Given the description of an element on the screen output the (x, y) to click on. 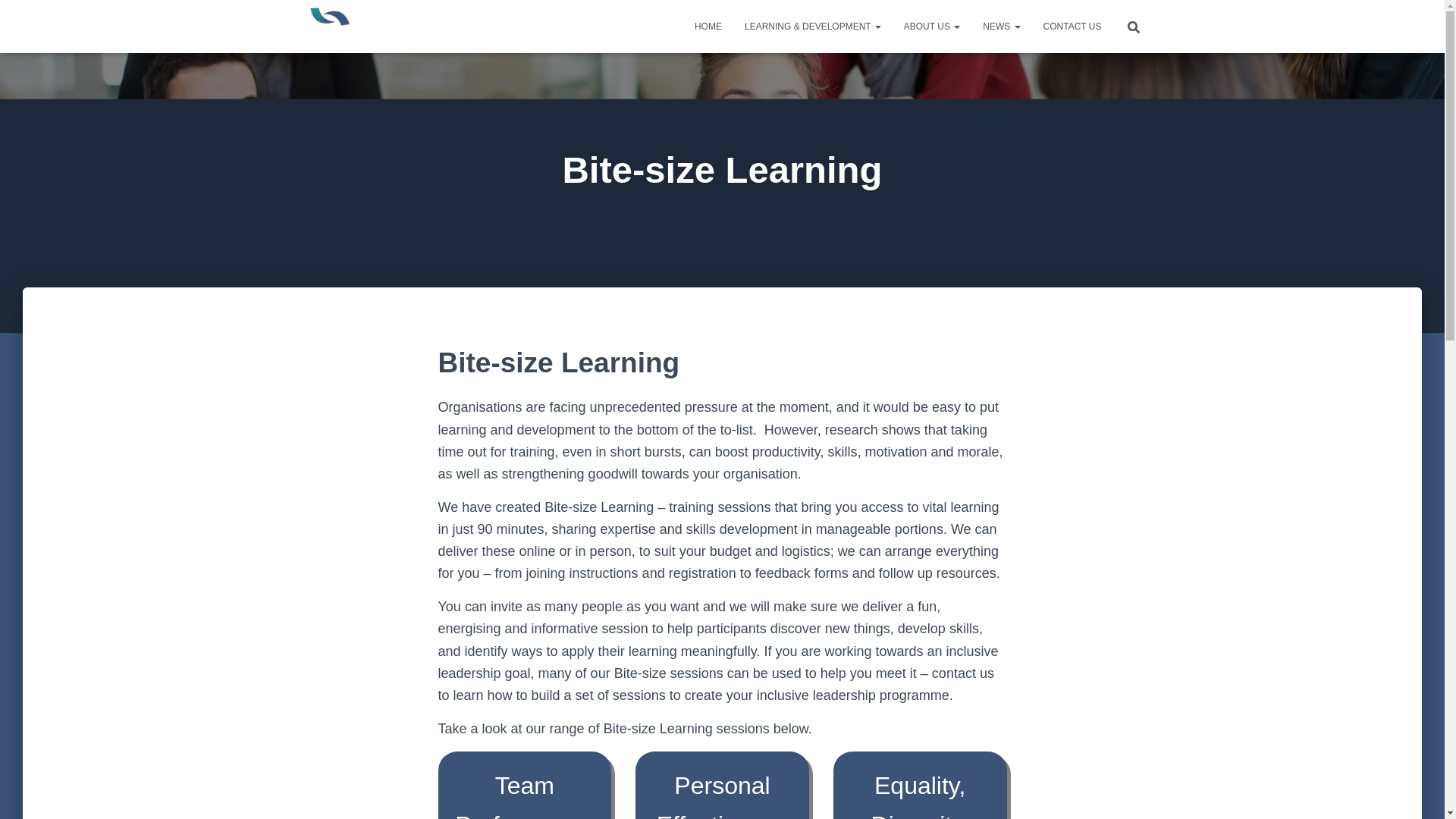
NEWS (1000, 26)
Cerulean (350, 26)
News (1000, 26)
HOME (707, 26)
ABOUT US (931, 26)
CONTACT US (1072, 26)
Home (707, 26)
About Us (931, 26)
